Given the description of an element on the screen output the (x, y) to click on. 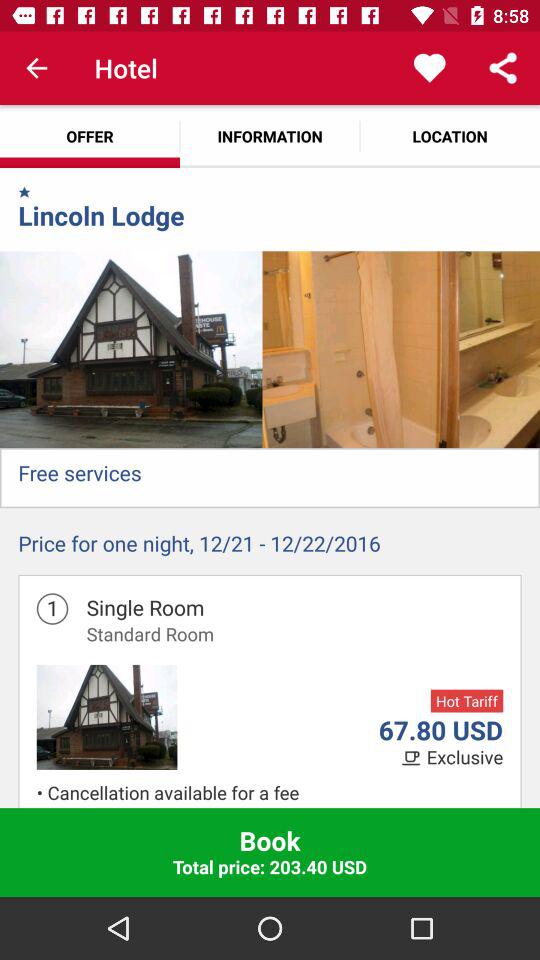
jump until the single room icon (145, 607)
